Given the description of an element on the screen output the (x, y) to click on. 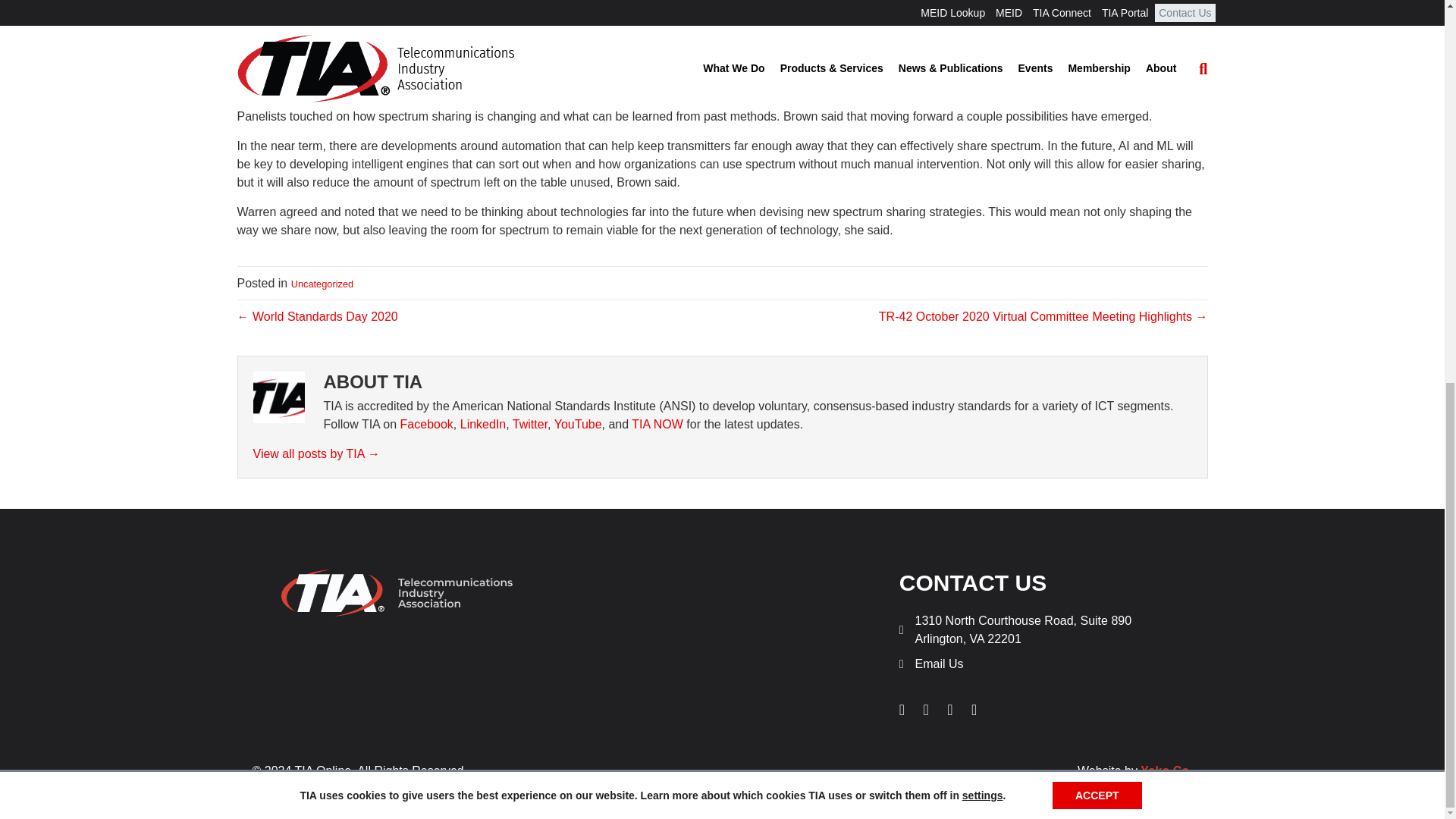
tia-logo--white (398, 592)
